Given the description of an element on the screen output the (x, y) to click on. 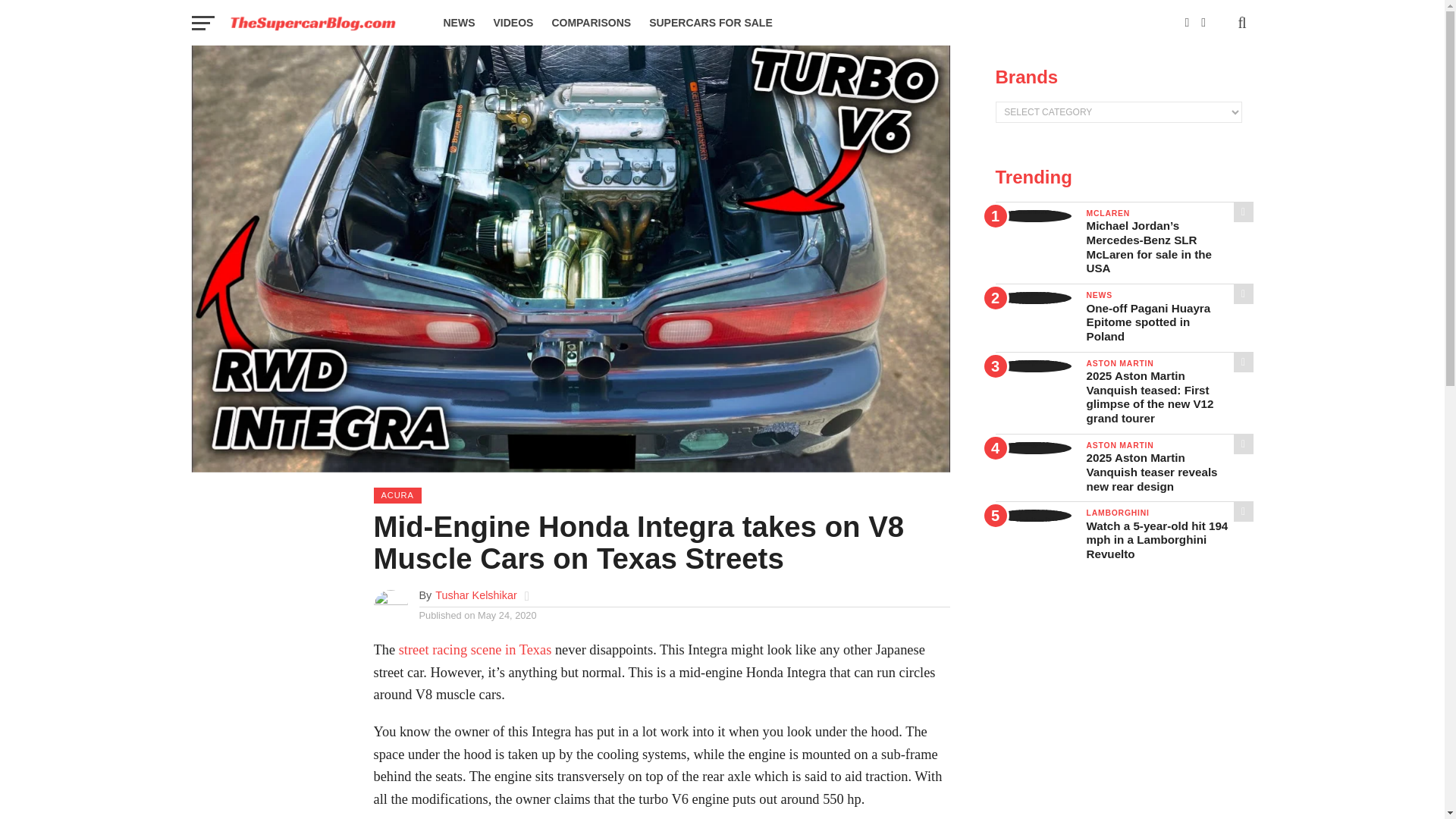
COMPARISONS (590, 22)
SUPERCARS FOR SALE (710, 22)
NEWS (458, 22)
Tushar Kelshikar (475, 594)
Posts by Tushar Kelshikar (475, 594)
VIDEOS (512, 22)
street racing scene in Texas (474, 649)
